Given the description of an element on the screen output the (x, y) to click on. 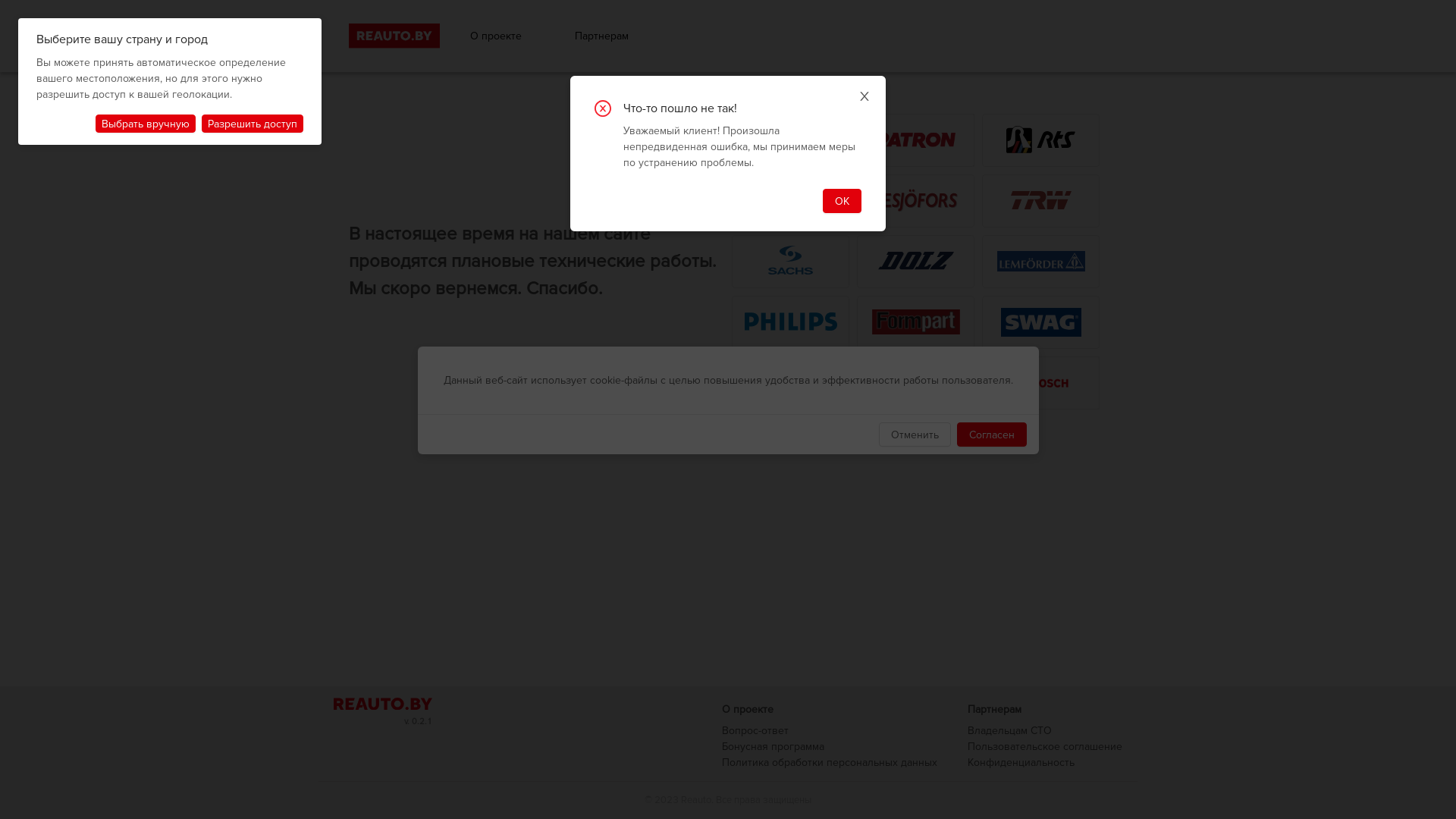
OK Element type: text (841, 200)
